Given the description of an element on the screen output the (x, y) to click on. 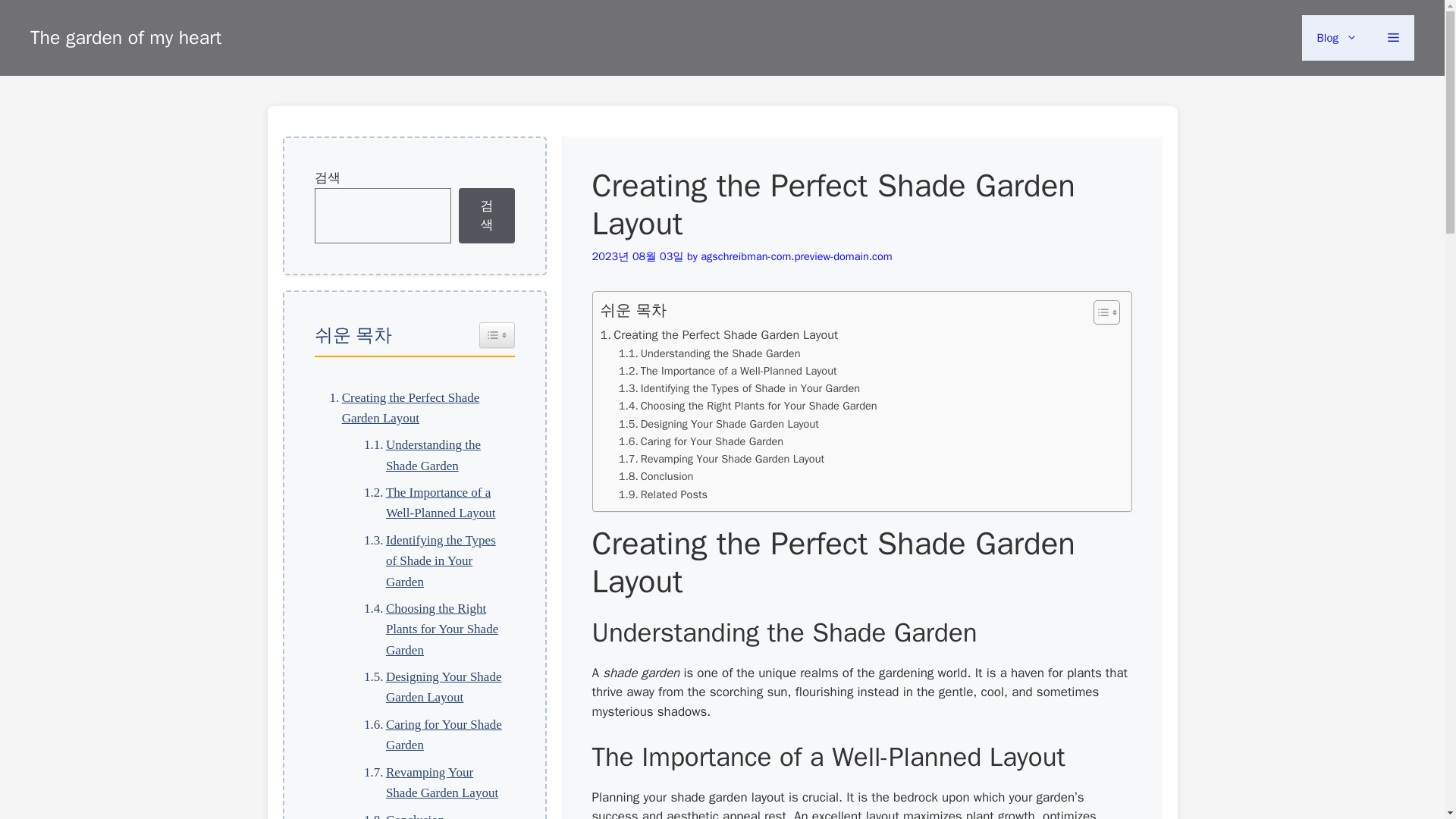
Toggle Table of Content (497, 334)
Choosing the Right Plants for Your Shade Garden (747, 405)
Conclusion (656, 476)
Choosing the Right Plants for Your Shade Garden (431, 629)
Identifying the Types of Shade in Your Garden (739, 388)
View all posts by agschreibman-com.preview-domain.com (795, 255)
Identifying the Types of Shade in Your Garden (431, 560)
Related Posts (662, 494)
Revamping Your Shade Garden Layout (721, 458)
Conclusion (656, 476)
Creating the Perfect Shade Garden Layout (413, 406)
Understanding the Shade Garden (709, 353)
The Importance of a Well-Planned Layout (431, 502)
Creating the Perfect Shade Garden Layout (718, 334)
Identifying the Types of Shade in Your Garden (431, 560)
